Given the description of an element on the screen output the (x, y) to click on. 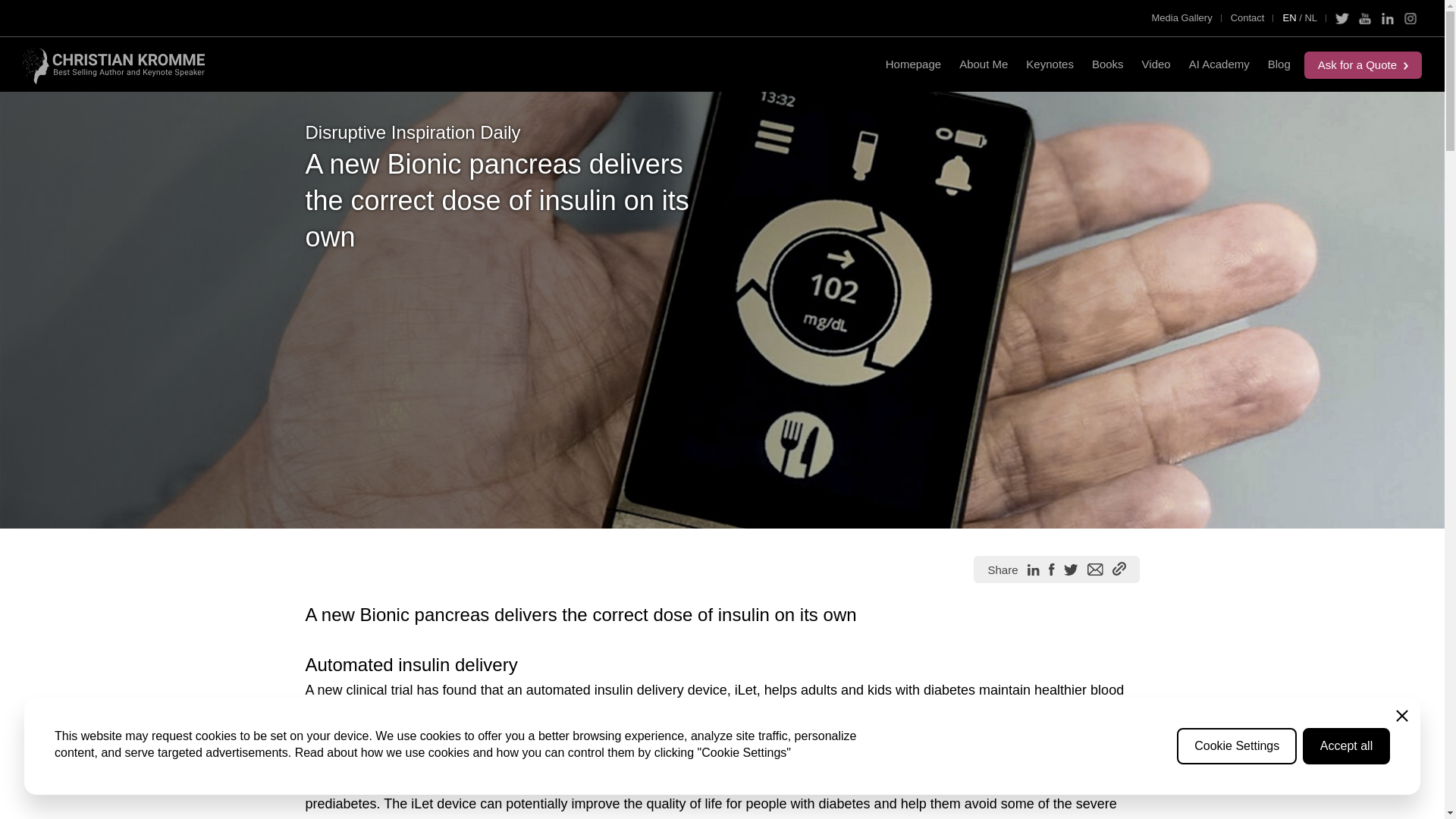
Disruptive AI Inspiration  (1279, 64)
Contact Christian Kromme (1247, 17)
About Me (983, 64)
Books (1107, 64)
Media Gallery (1181, 17)
Media Gallery Download (1181, 17)
logo (114, 64)
Keynotes (1049, 64)
Ask for a Quote (1363, 64)
Homepage (913, 64)
